Given the description of an element on the screen output the (x, y) to click on. 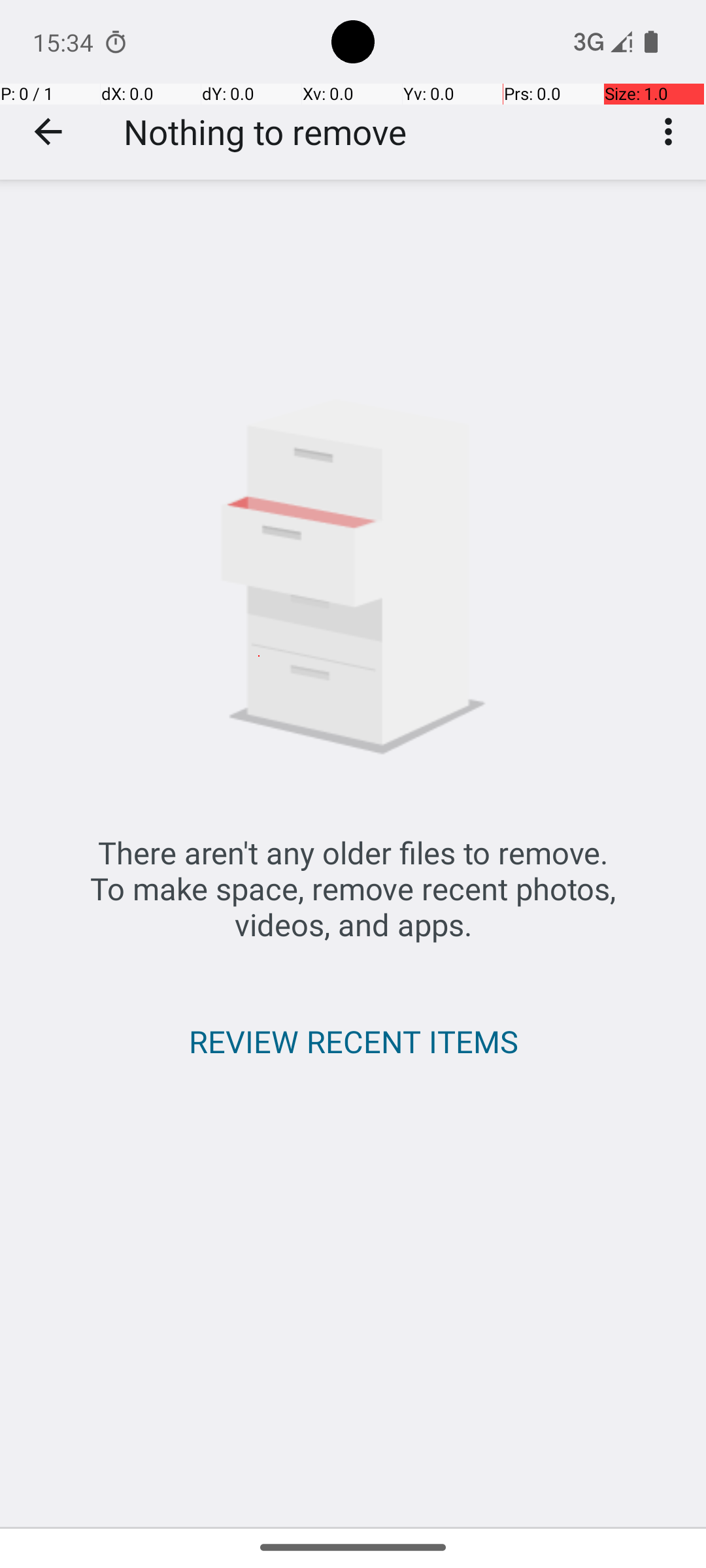
Nothing to remove Element type: android.widget.TextView (265, 131)
There aren't any older files to remove. To make space, remove recent photos, videos, and apps. Element type: android.widget.TextView (353, 887)
REVIEW RECENT ITEMS Element type: android.widget.TextView (352, 1040)
